Given the description of an element on the screen output the (x, y) to click on. 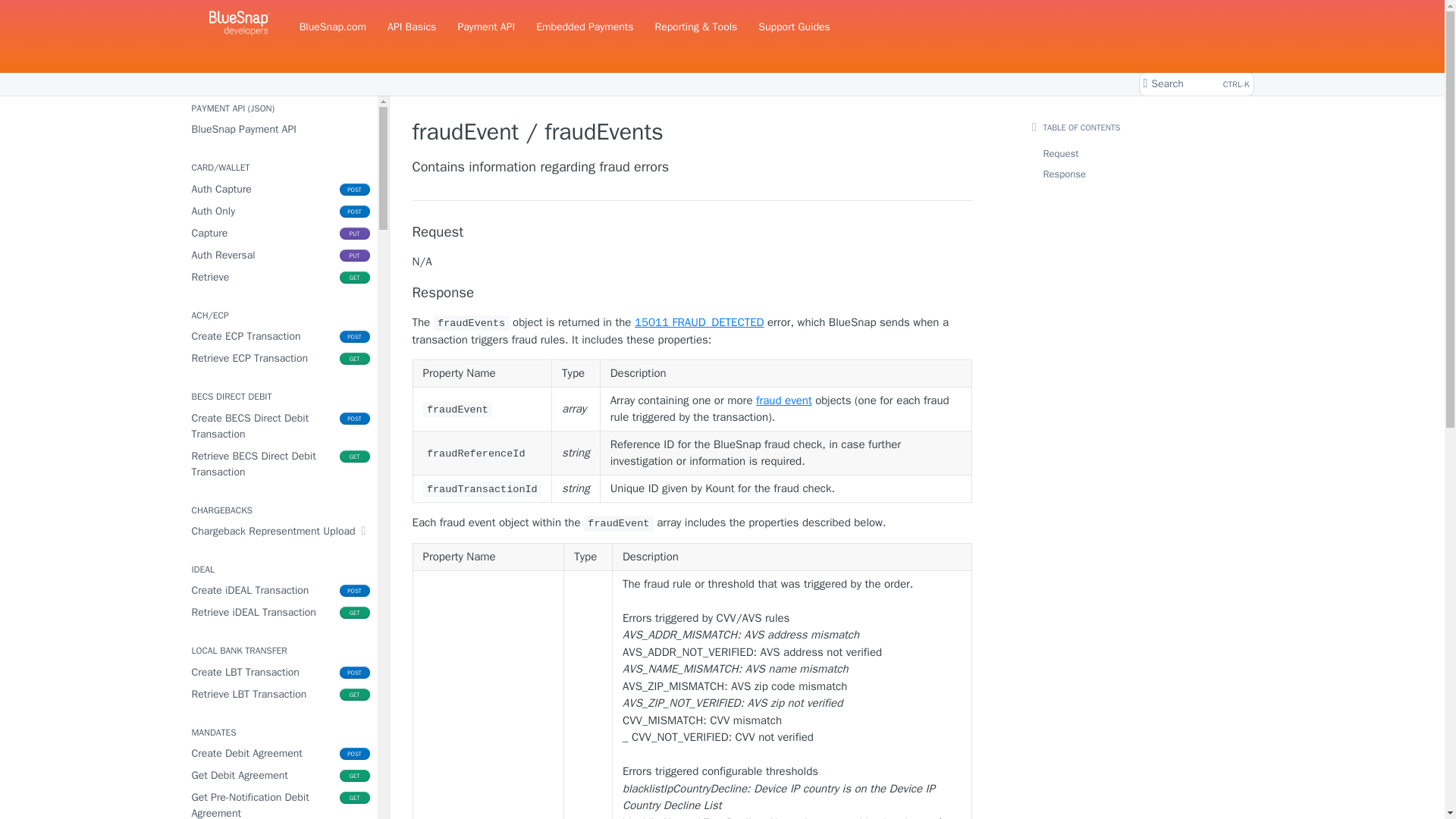
Response (692, 293)
Embedded Payments (277, 254)
Payment API (584, 26)
BlueSnap.com (277, 210)
Chargeback Representment Upload (485, 26)
Support Guides (277, 611)
API Basics (277, 232)
